Given the description of an element on the screen output the (x, y) to click on. 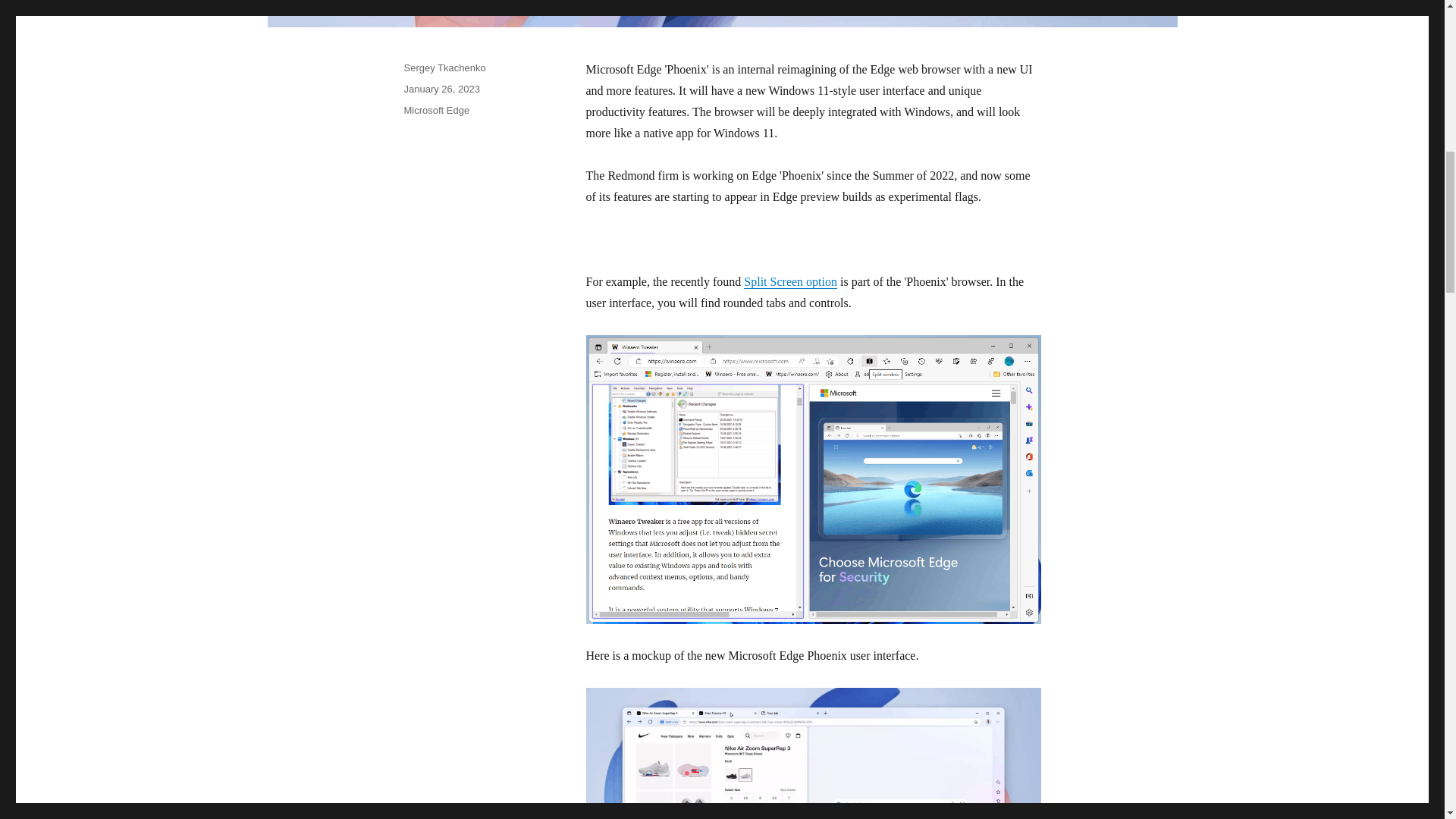
Sergey Tkachenko (443, 67)
Split Screen option (790, 281)
Microsoft Edge (435, 110)
January 26, 2023 (441, 89)
